Given the description of an element on the screen output the (x, y) to click on. 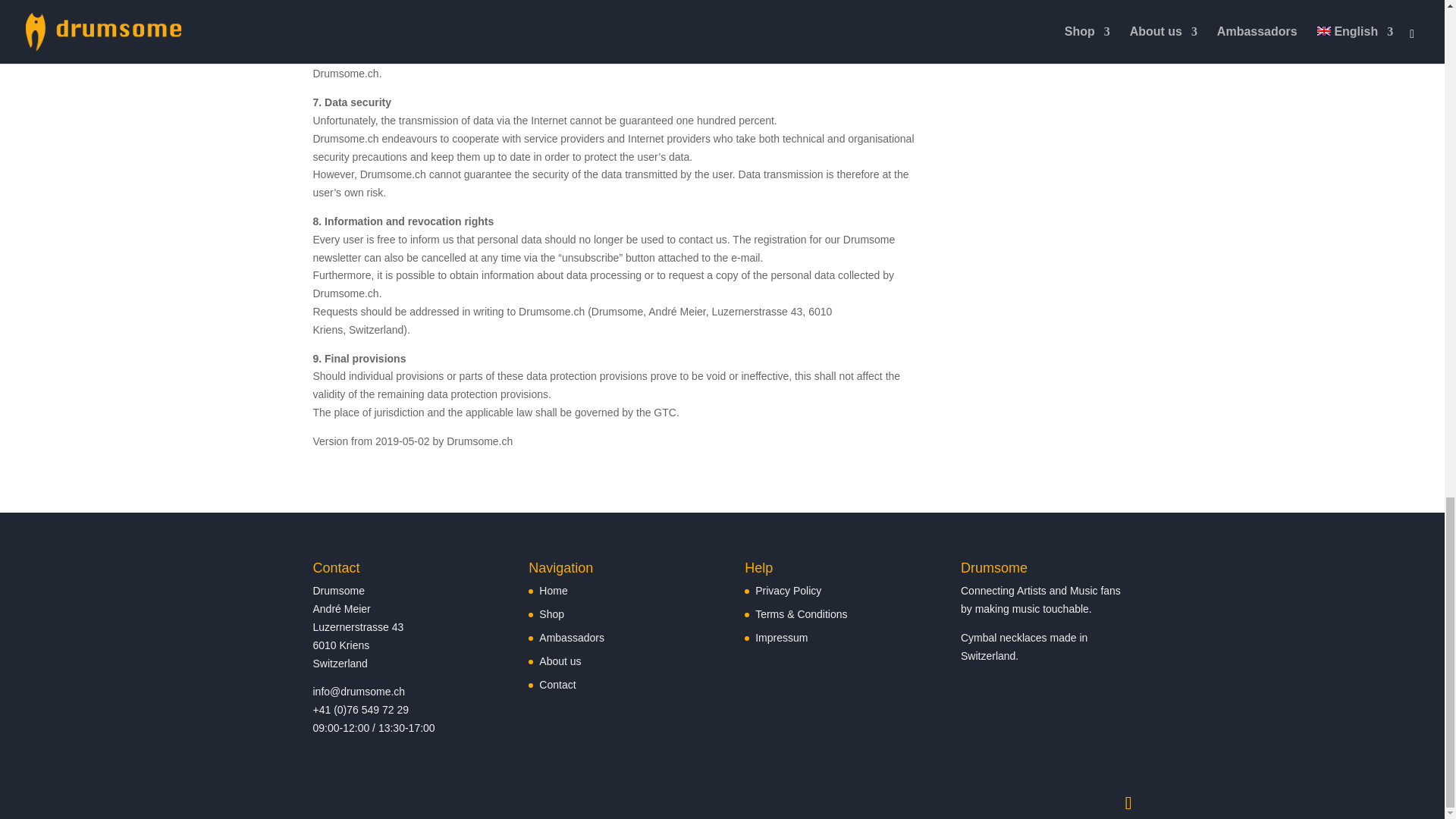
About us (559, 661)
Home (552, 590)
Privacy Policy (788, 590)
Contact (556, 684)
Shop (551, 613)
Impressum (781, 637)
home (552, 590)
about (559, 661)
Ambassadors (571, 637)
